Given the description of an element on the screen output the (x, y) to click on. 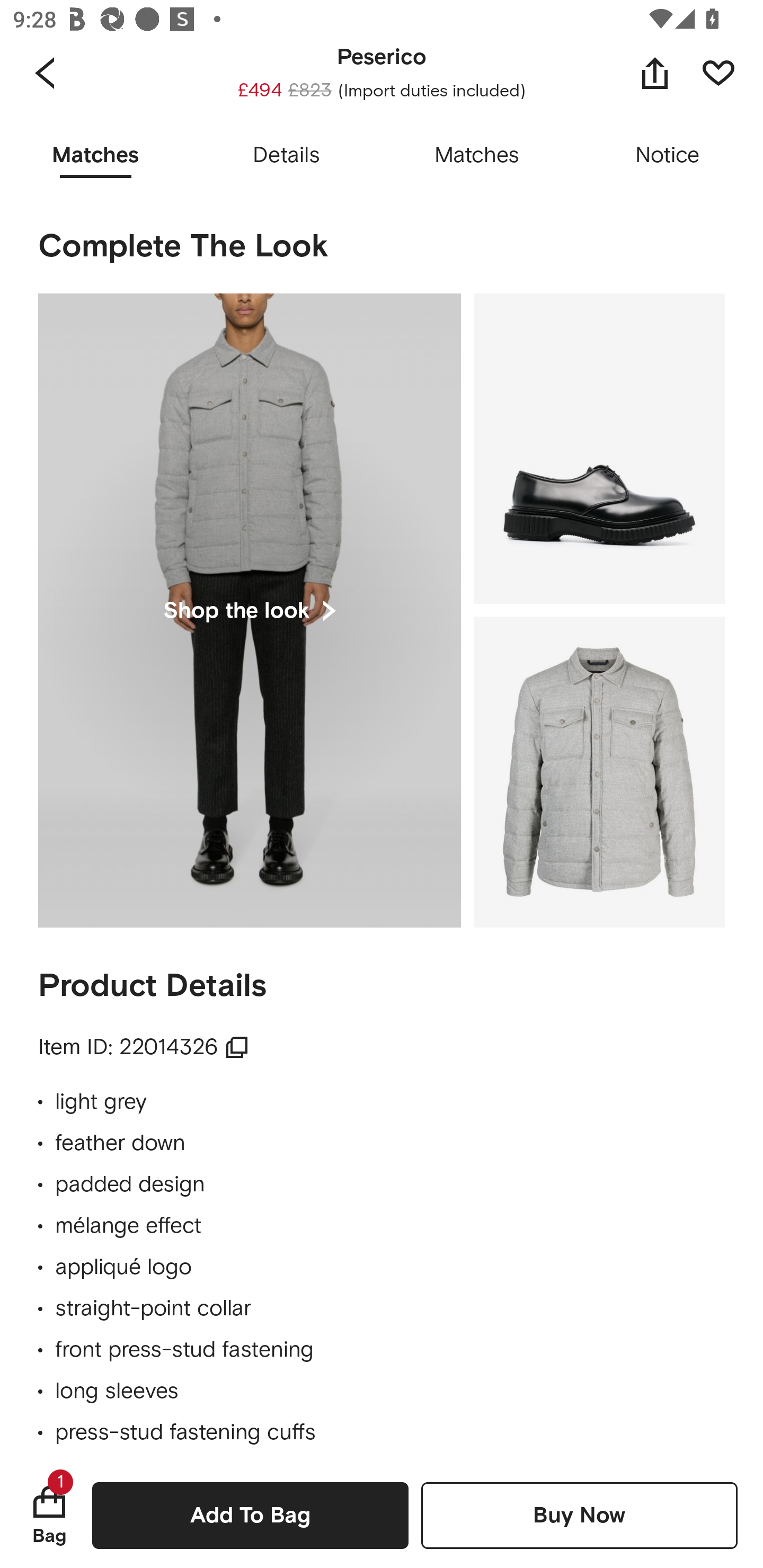
Select 5 size(s) available (381, 71)
Details (285, 155)
Matches (476, 155)
Notice (667, 155)
Item ID: 22014326 (143, 1047)
Bag 1 (49, 1515)
Add To Bag (250, 1515)
Buy Now (579, 1515)
